Given the description of an element on the screen output the (x, y) to click on. 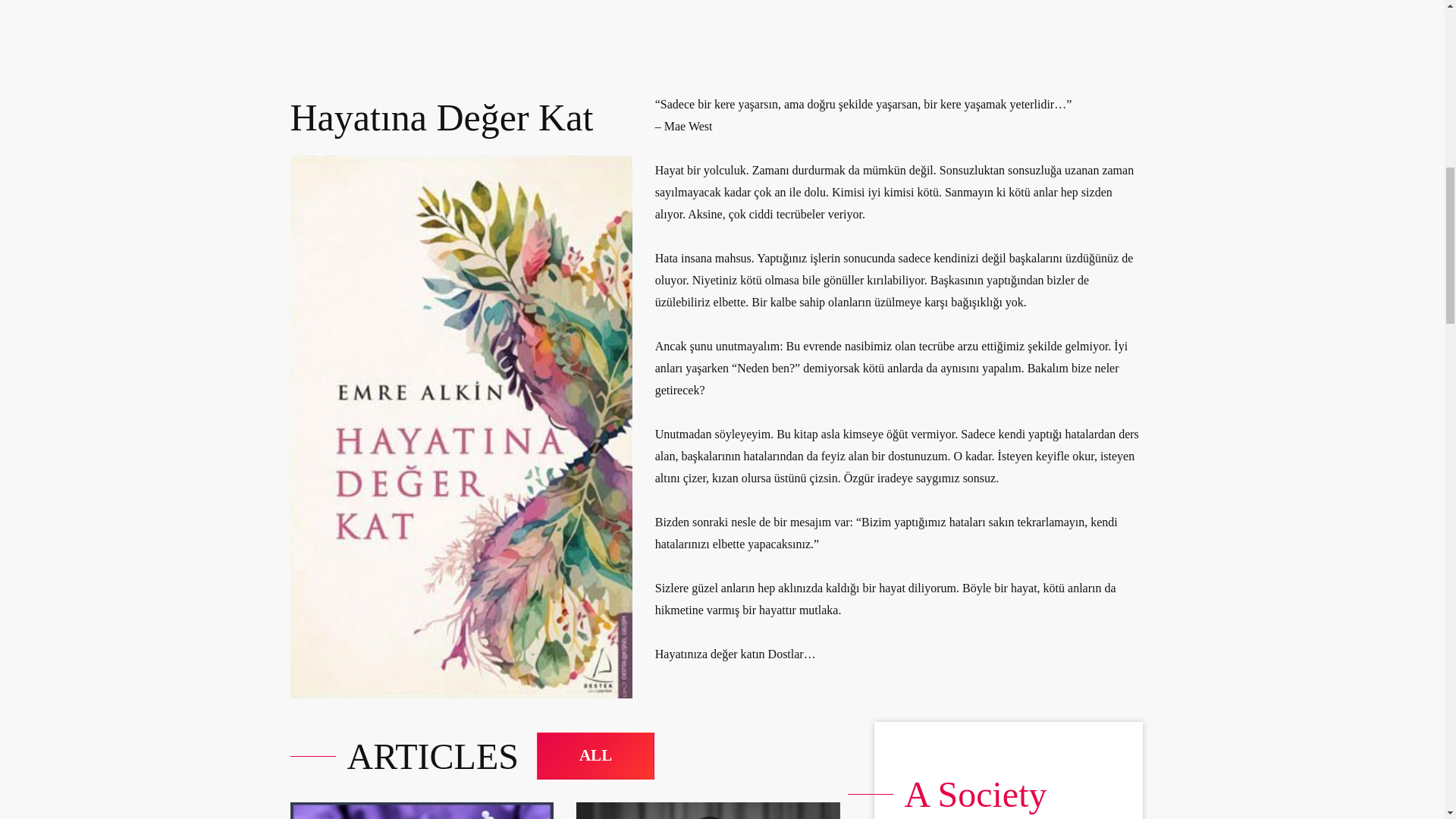
ALL (595, 755)
